Given the description of an element on the screen output the (x, y) to click on. 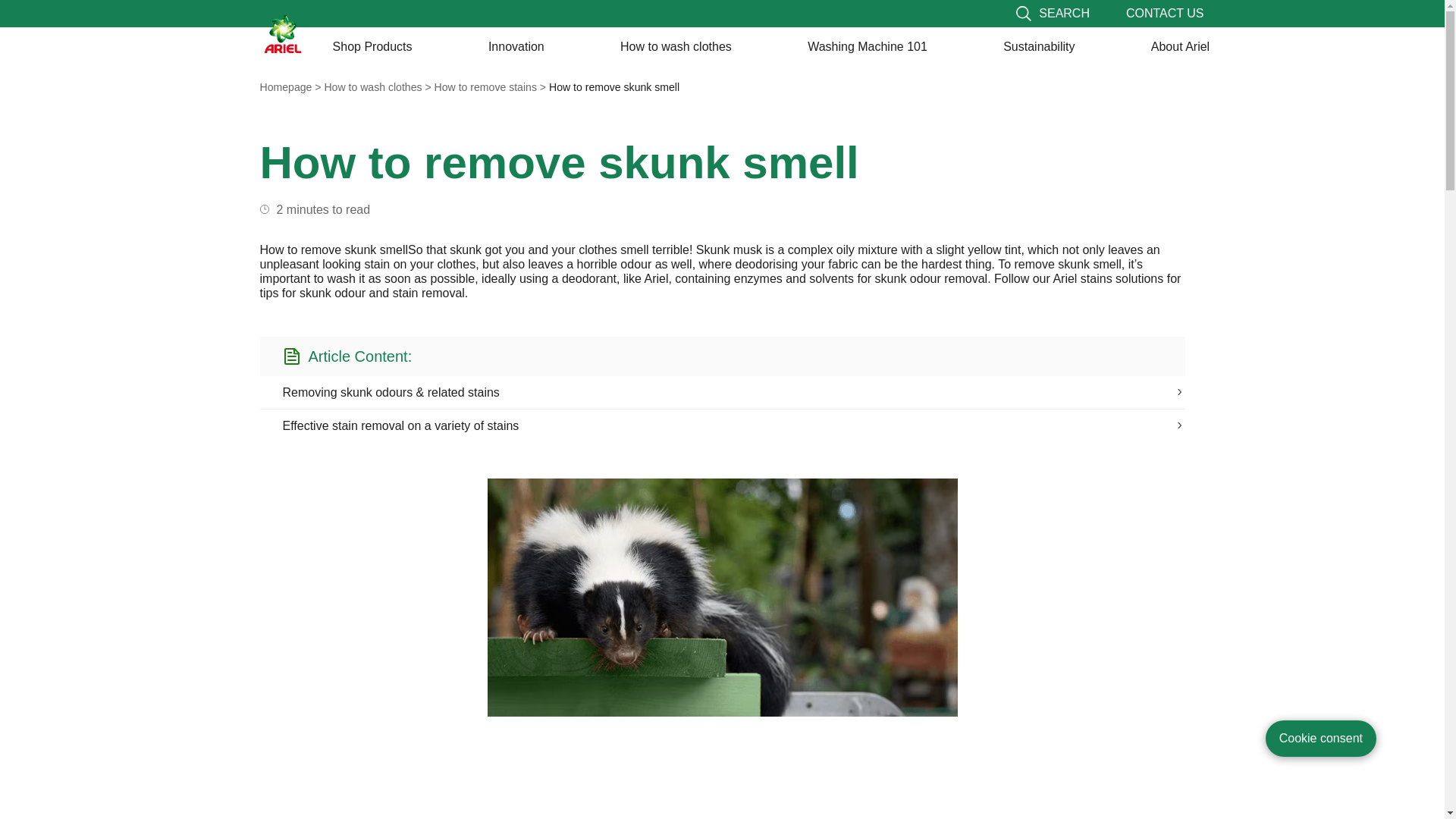
Shop Products (372, 47)
Washing Machine 101 (867, 47)
How to wash clothes (676, 47)
Innovation (515, 47)
